Given the description of an element on the screen output the (x, y) to click on. 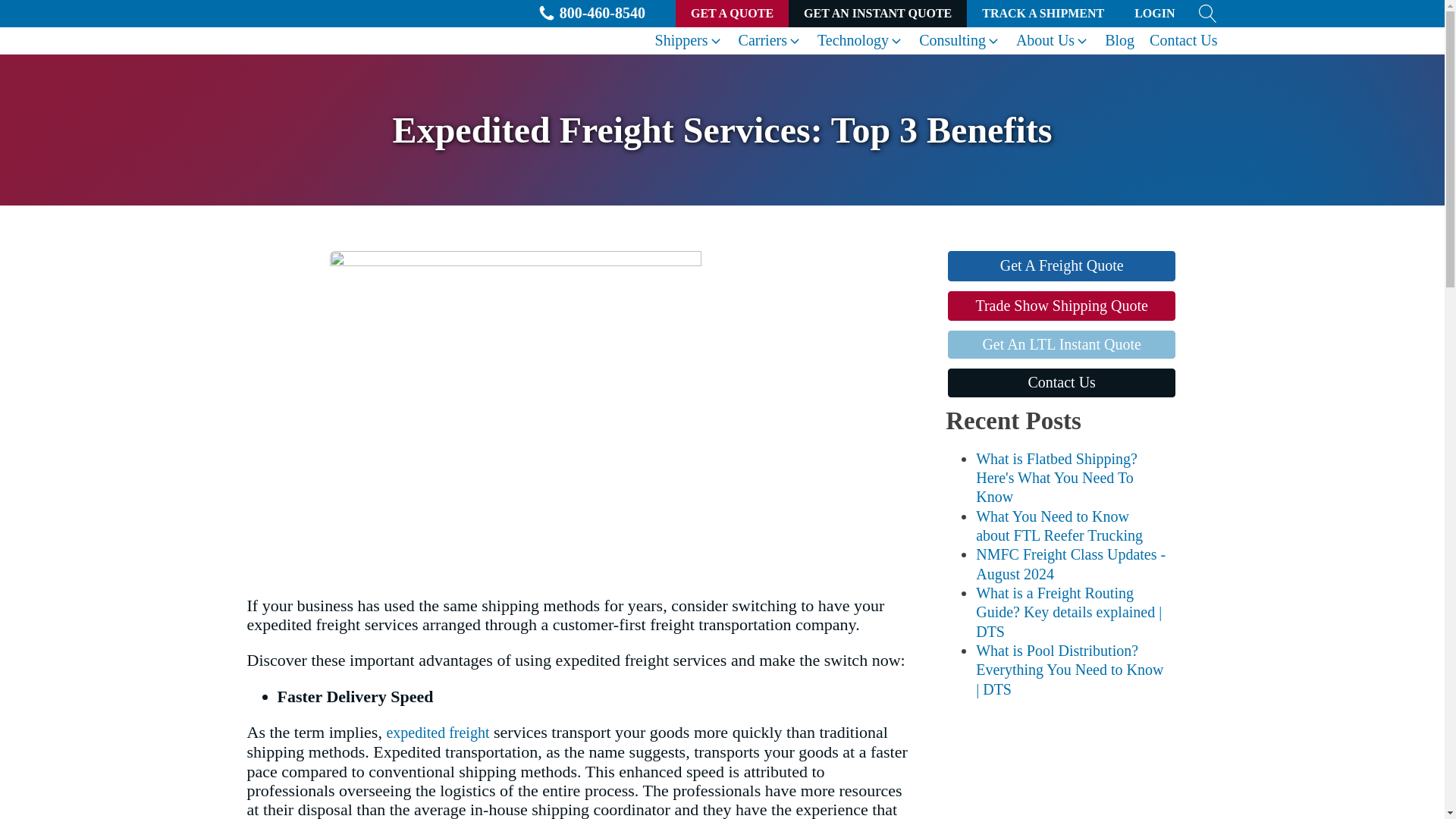
Shippers (688, 40)
GET AN INSTANT QUOTE (877, 13)
TRACK A SHIPMENT (1042, 13)
Search (50, 14)
LOGIN (1154, 13)
GET A QUOTE (732, 13)
800-460-8540 (591, 13)
